Given the description of an element on the screen output the (x, y) to click on. 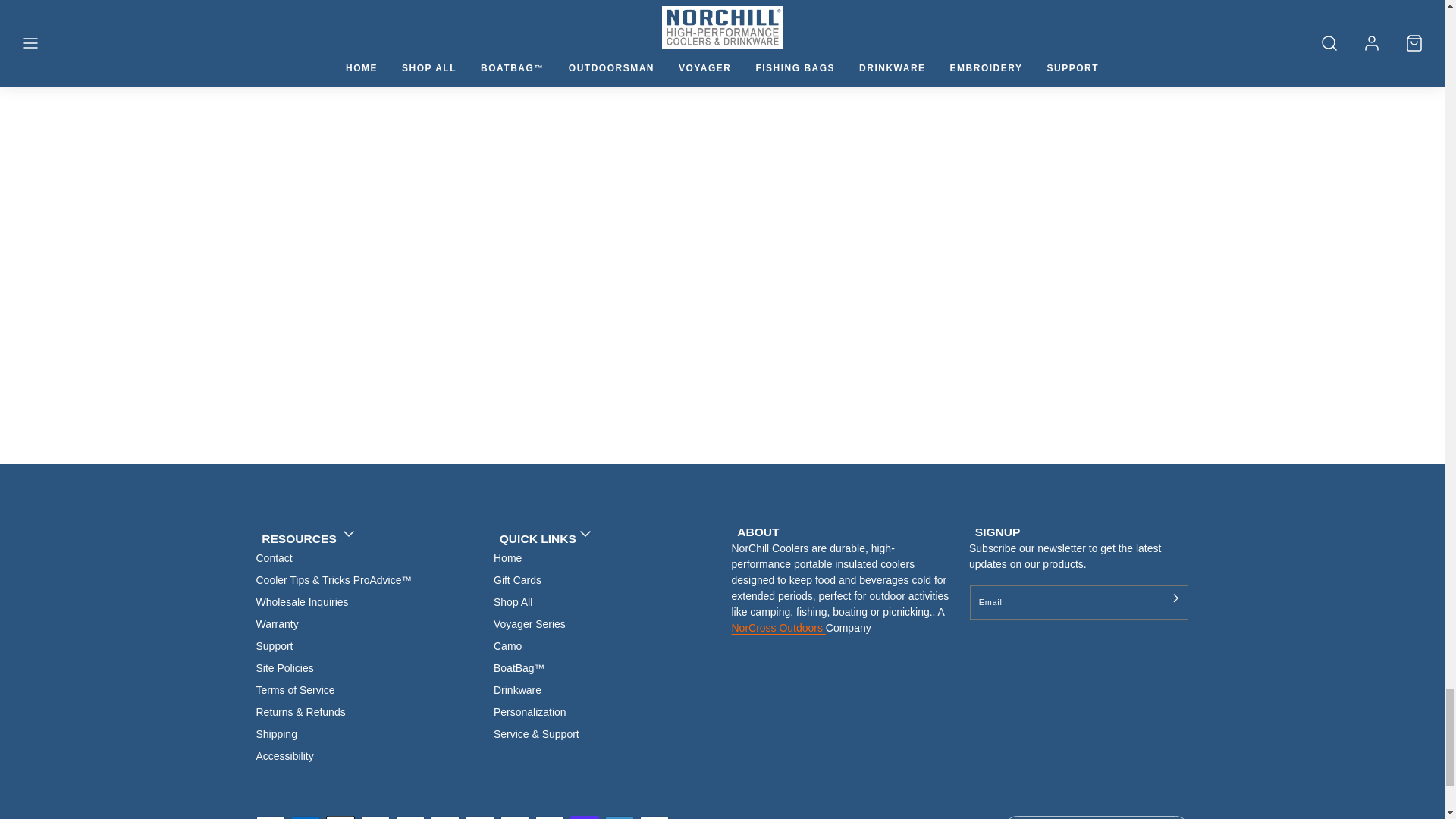
American Express (305, 817)
Amazon (270, 817)
Google Pay (480, 817)
Diners Club (375, 817)
Apple Pay (340, 817)
Mastercard (514, 817)
Meta Pay (445, 817)
Discover (410, 817)
